Given the description of an element on the screen output the (x, y) to click on. 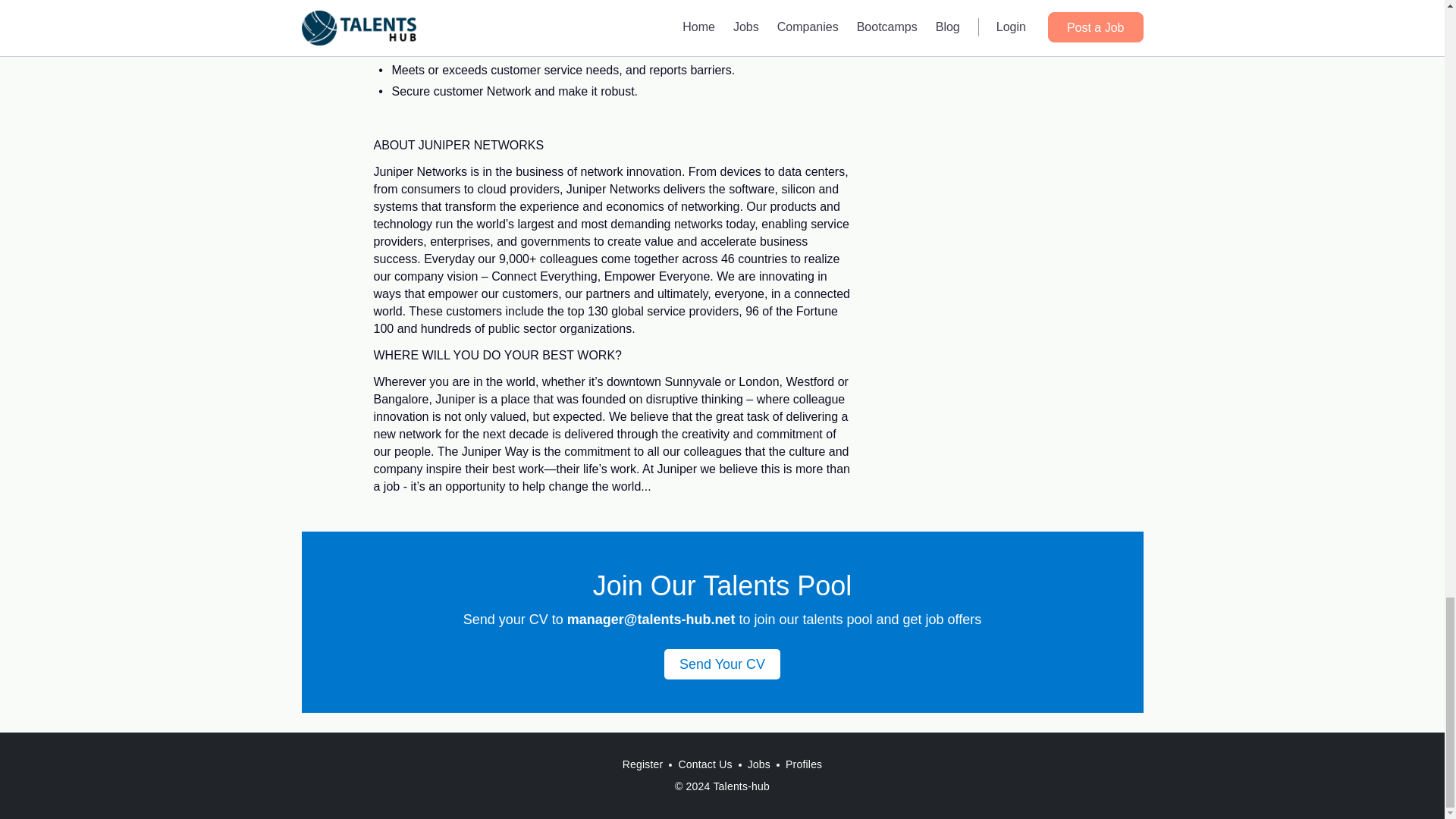
Profiles (803, 764)
Register (642, 764)
Jobs (758, 764)
Send Your CV (721, 664)
Contact Us (704, 764)
